Given the description of an element on the screen output the (x, y) to click on. 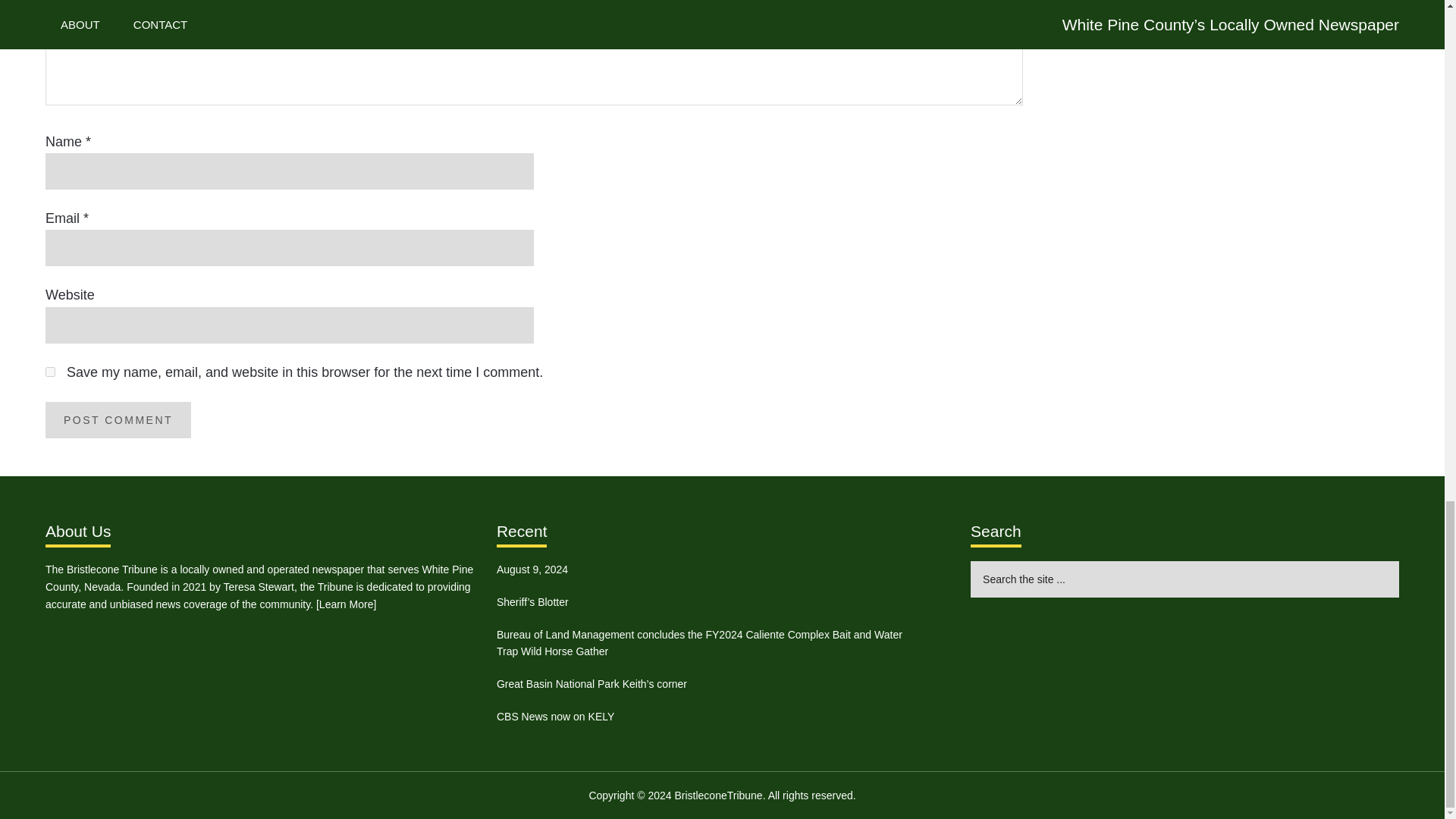
yes (50, 371)
Post Comment (117, 420)
CBS News now on KELY (555, 716)
August 9, 2024 (531, 569)
Post Comment (117, 420)
